Given the description of an element on the screen output the (x, y) to click on. 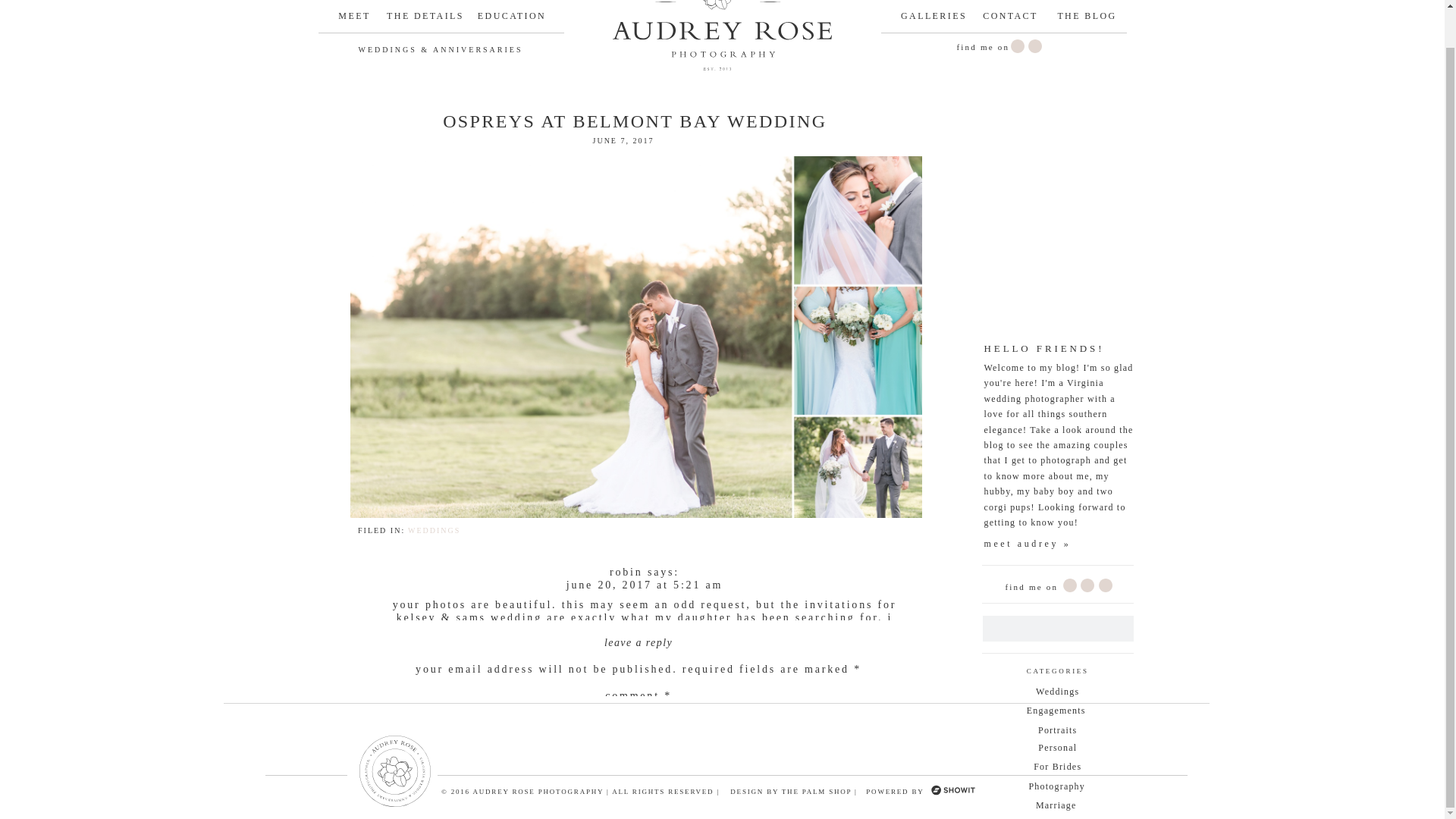
CONTACT (1010, 20)
THE BLOG (1086, 20)
MEET (354, 20)
GALLERIES (933, 20)
Engagements  (1056, 712)
Personal (1057, 749)
THE DETAILS (425, 20)
Marriage (1055, 807)
For Brides (1057, 768)
